Given the description of an element on the screen output the (x, y) to click on. 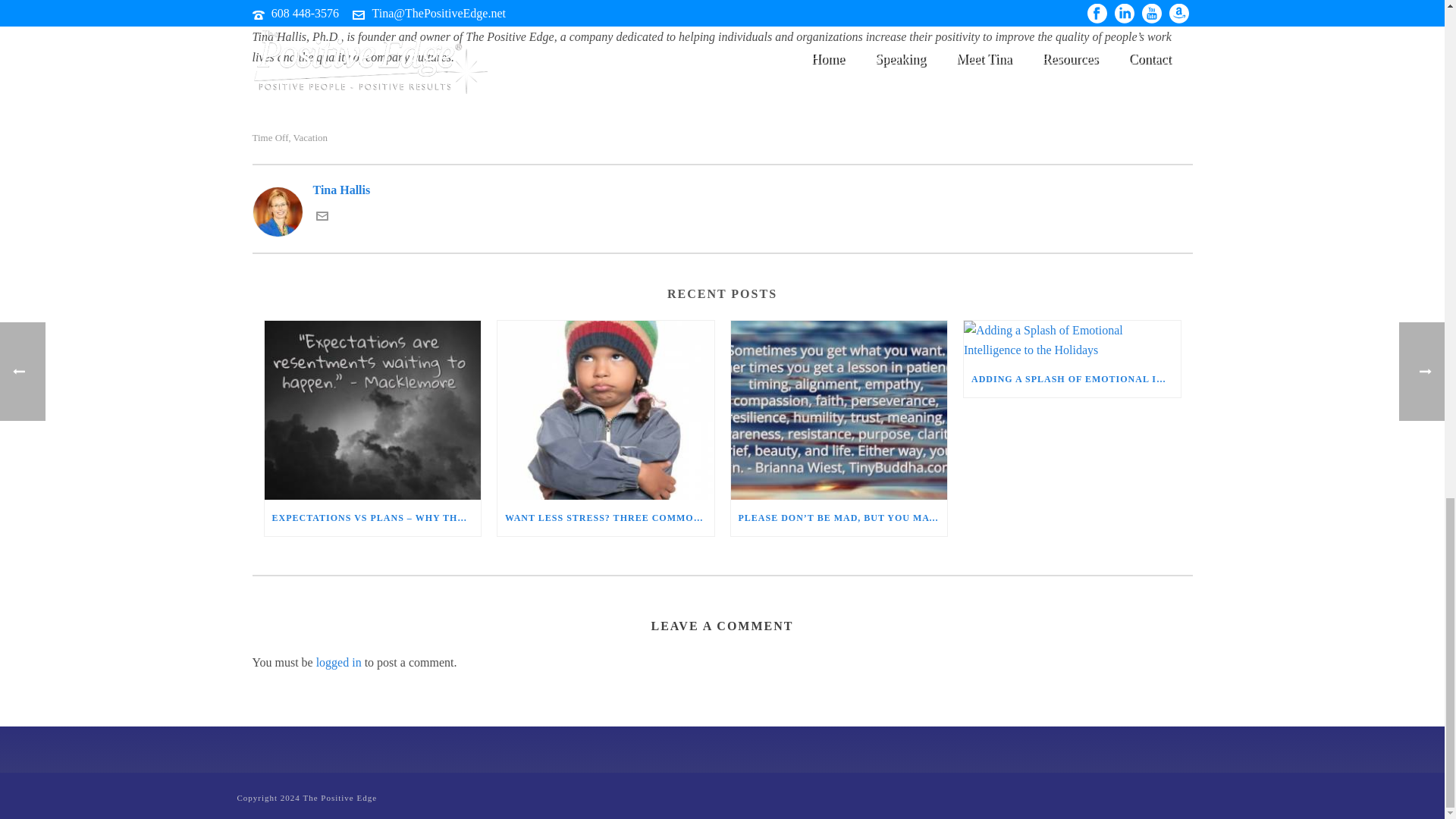
Want Less Stress? Three Common Truths We Commonly Forget (605, 410)
Get in touch with me via email (321, 217)
